Given the description of an element on the screen output the (x, y) to click on. 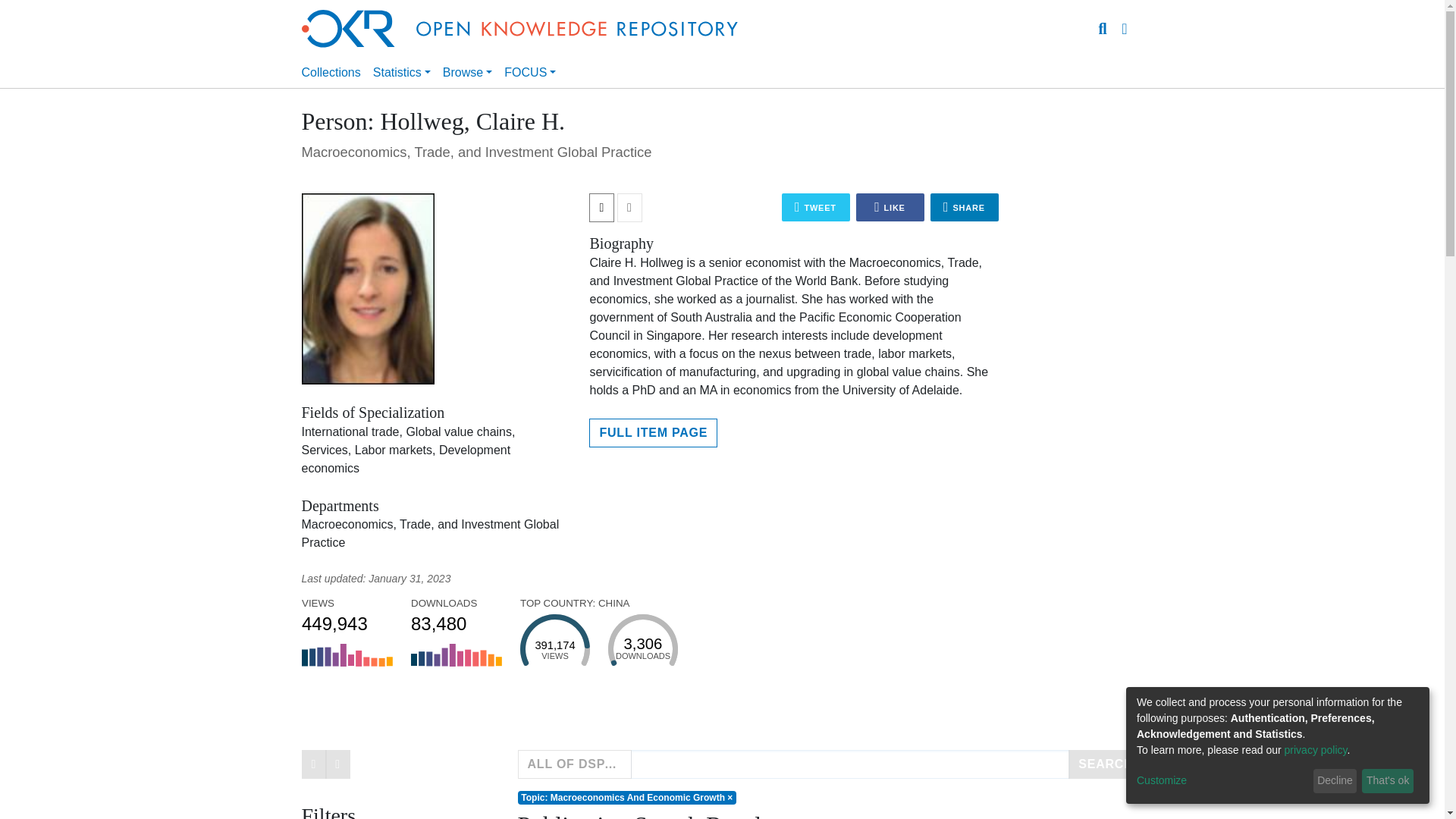
Search (1102, 28)
Statistics (401, 72)
TWEET (815, 207)
FULL ITEM PAGE (653, 432)
SHARE (448, 619)
Browse (339, 619)
TOP COUNTRY: CHINA (964, 207)
TOP COUNTRY: CHINA (448, 619)
